Given the description of an element on the screen output the (x, y) to click on. 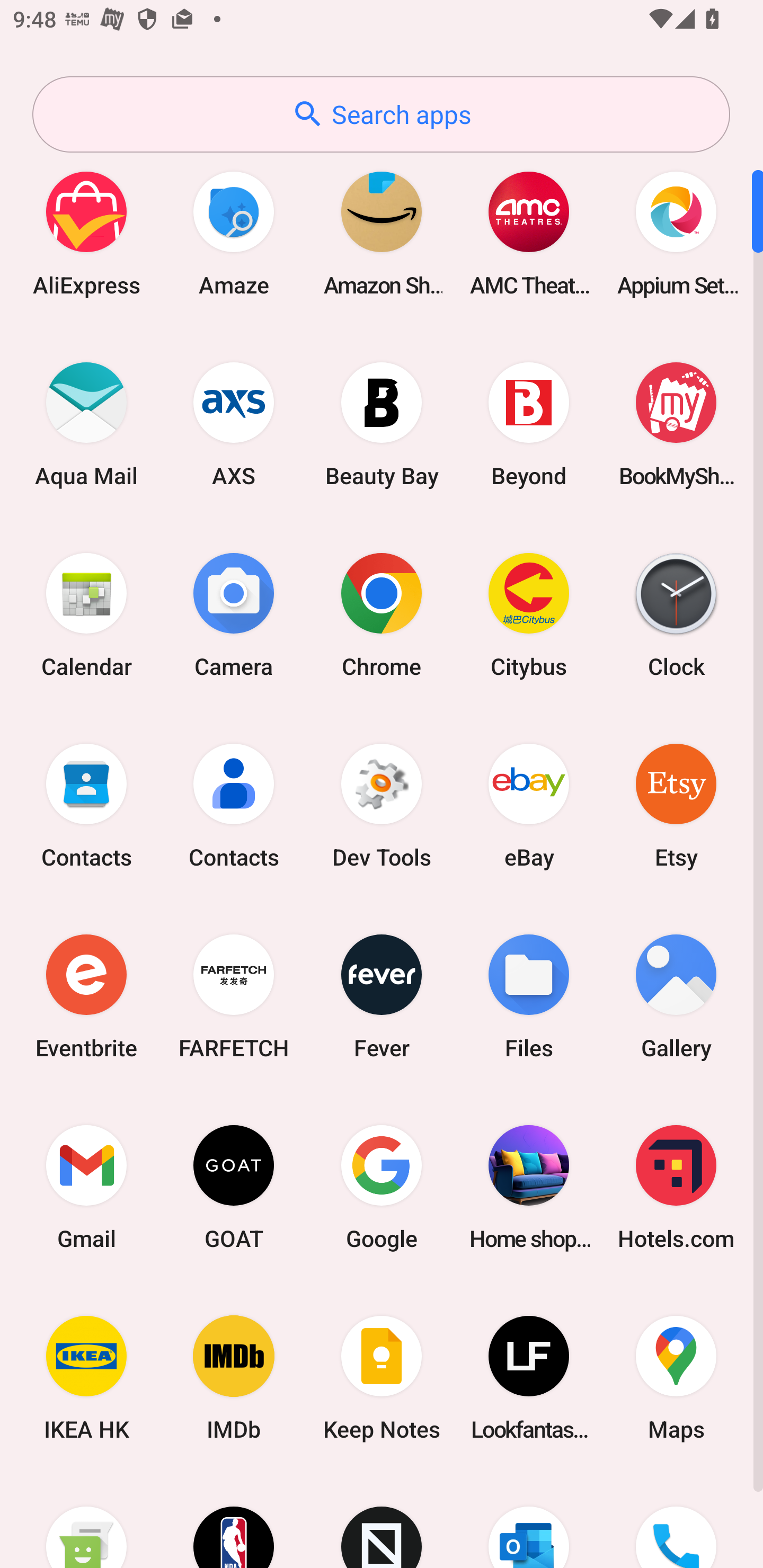
  Search apps (381, 114)
AliExpress (86, 233)
Amaze (233, 233)
Amazon Shopping (381, 233)
AMC Theatres (528, 233)
Appium Settings (676, 233)
Aqua Mail (86, 424)
AXS (233, 424)
Beauty Bay (381, 424)
Beyond (528, 424)
BookMyShow (676, 424)
Calendar (86, 614)
Camera (233, 614)
Chrome (381, 614)
Citybus (528, 614)
Clock (676, 614)
Contacts (86, 805)
Contacts (233, 805)
Dev Tools (381, 805)
eBay (528, 805)
Etsy (676, 805)
Eventbrite (86, 996)
FARFETCH (233, 996)
Fever (381, 996)
Files (528, 996)
Gallery (676, 996)
Gmail (86, 1186)
GOAT (233, 1186)
Google (381, 1186)
Home shopping (528, 1186)
Hotels.com (676, 1186)
IKEA HK (86, 1377)
IMDb (233, 1377)
Keep Notes (381, 1377)
Lookfantastic (528, 1377)
Maps (676, 1377)
